Given the description of an element on the screen output the (x, y) to click on. 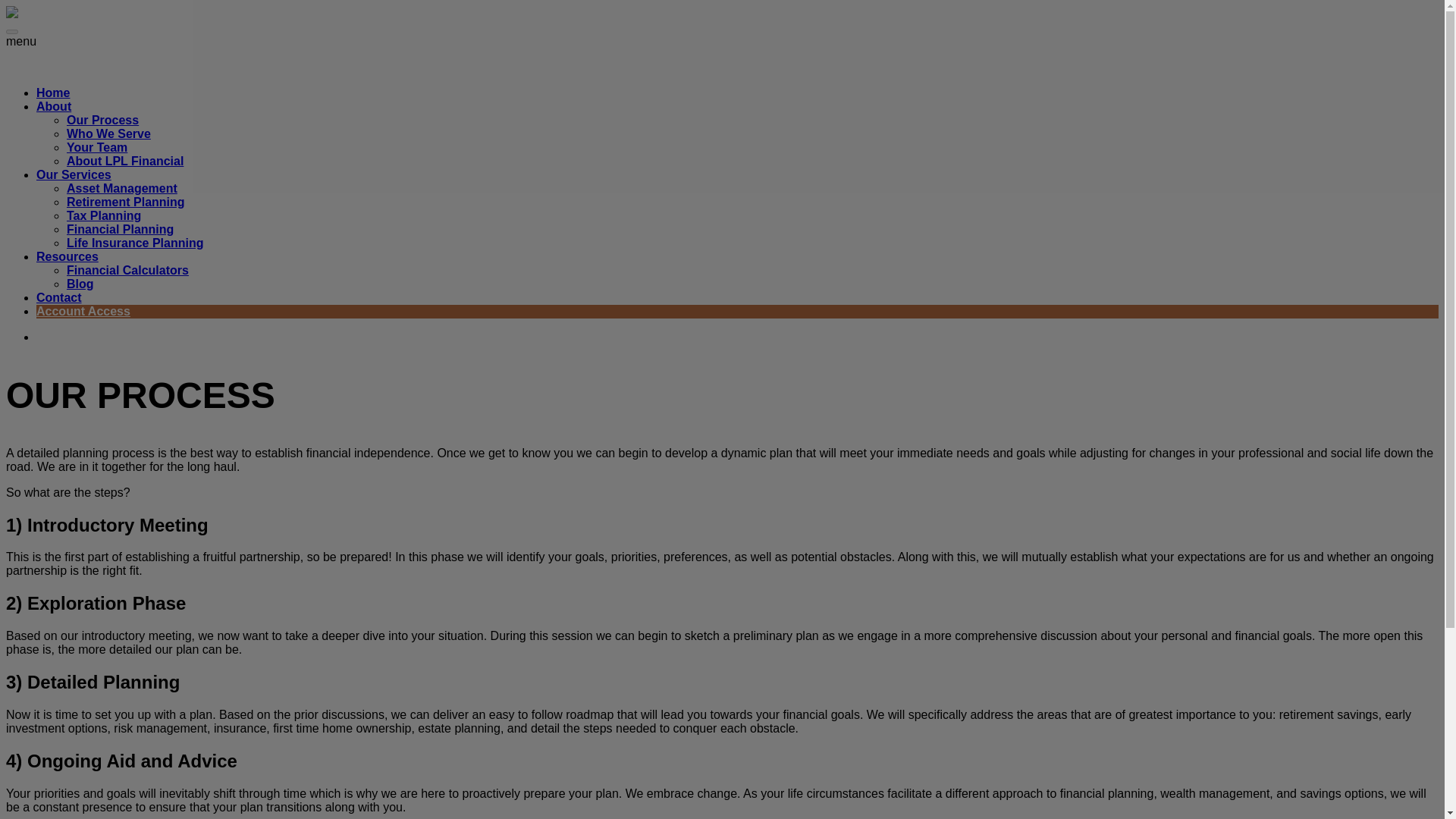
Blog (80, 283)
Contact (58, 297)
Home (52, 92)
Account Access (83, 310)
Your Team (97, 146)
Financial Planning (119, 228)
Life Insurance Planning (134, 242)
Resources (67, 256)
Our Services (74, 174)
Who We Serve (108, 133)
Financial Calculators (127, 269)
Asset Management (121, 187)
About LPL Financial (124, 160)
Retirement Planning (125, 201)
Illuminate Tax Advisors Website (80, 67)
